Given the description of an element on the screen output the (x, y) to click on. 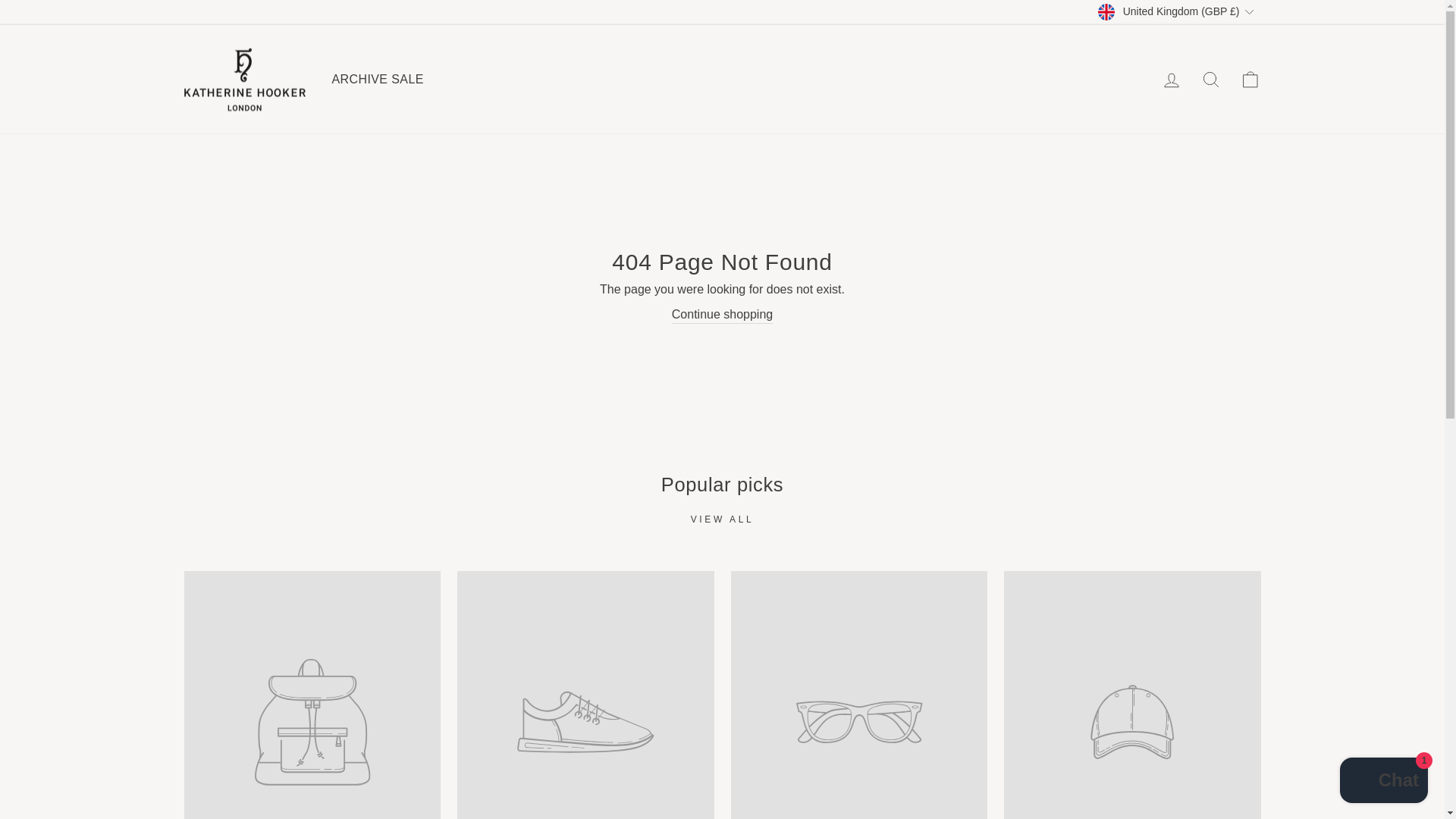
Shopify online store chat (1383, 781)
